Given the description of an element on the screen output the (x, y) to click on. 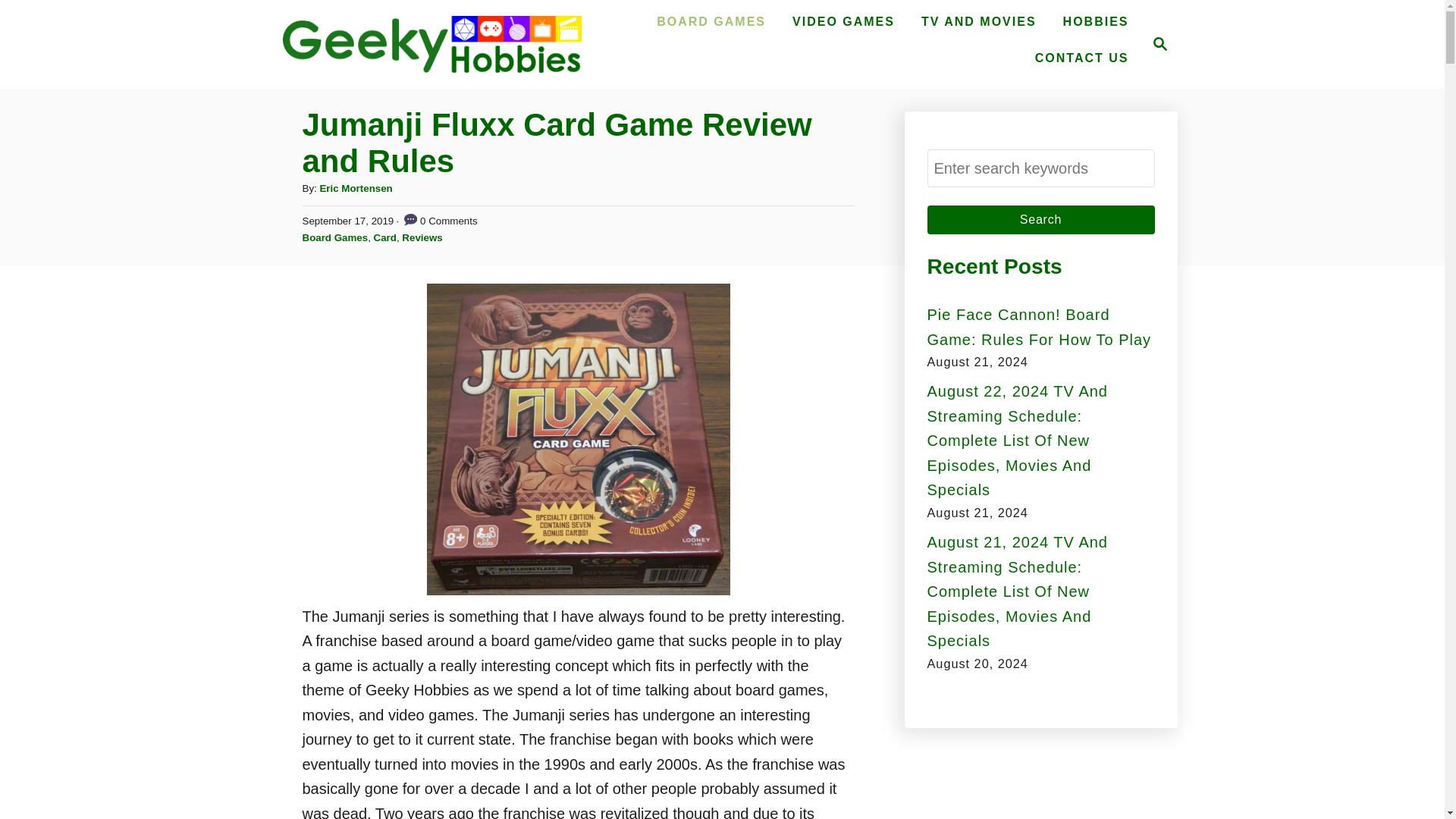
Search (1155, 43)
Eric Mortensen (1040, 219)
TV AND MOVIES (354, 188)
VIDEO GAMES (978, 21)
HOBBIES (843, 21)
Board Games (1096, 21)
Reviews (334, 237)
CONTACT US (421, 237)
Search for: (1082, 58)
